Given the description of an element on the screen output the (x, y) to click on. 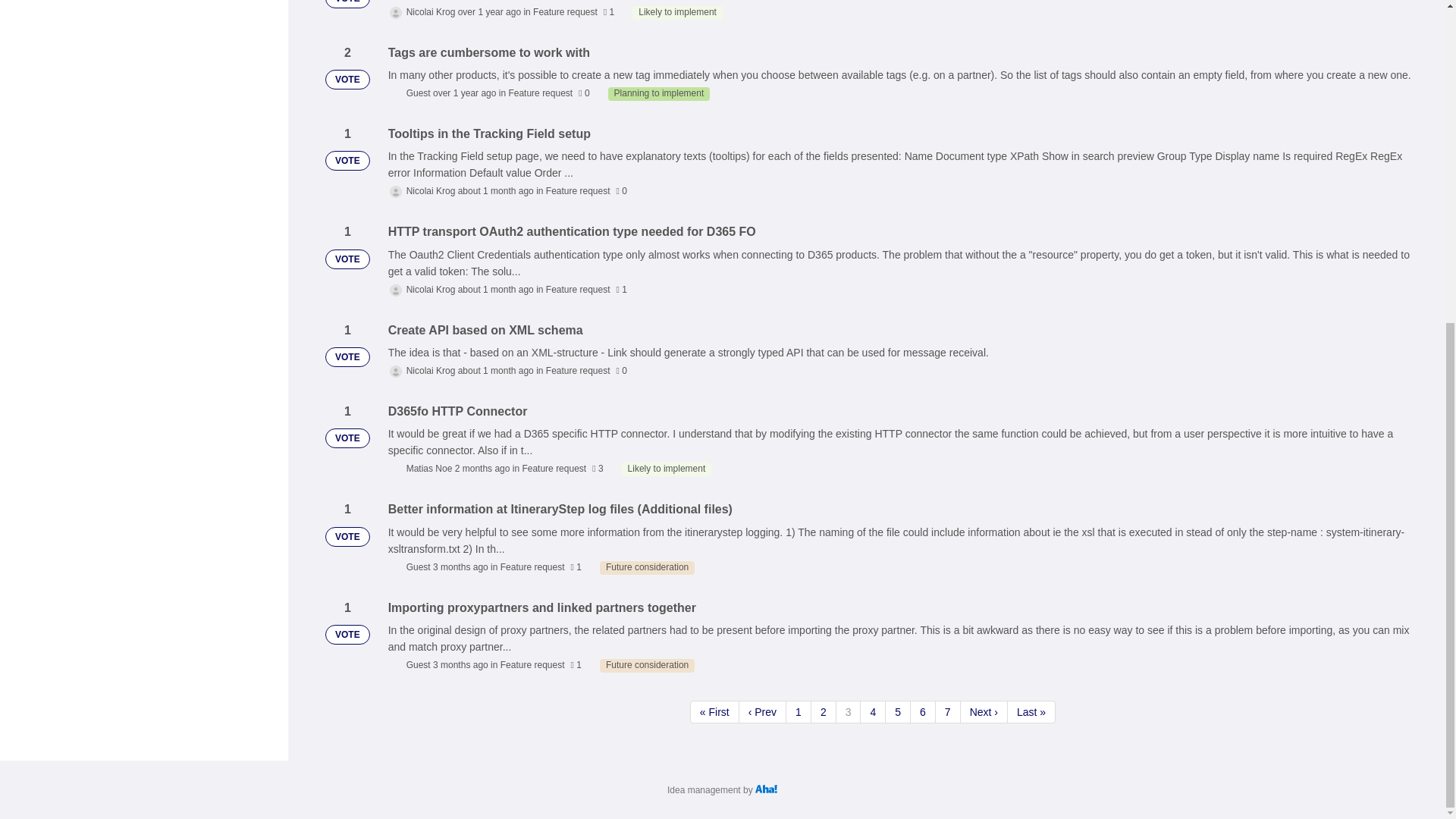
VOTE (346, 259)
VOTE (346, 79)
Feature request (540, 92)
Likely to implement (666, 468)
Planning to implement (659, 93)
VOTE (346, 160)
Feature request (578, 190)
Feature request (564, 11)
Future consideration (646, 567)
VOTE (346, 4)
Future consideration (646, 665)
Likely to implement (676, 12)
Feature request (578, 289)
